Given the description of an element on the screen output the (x, y) to click on. 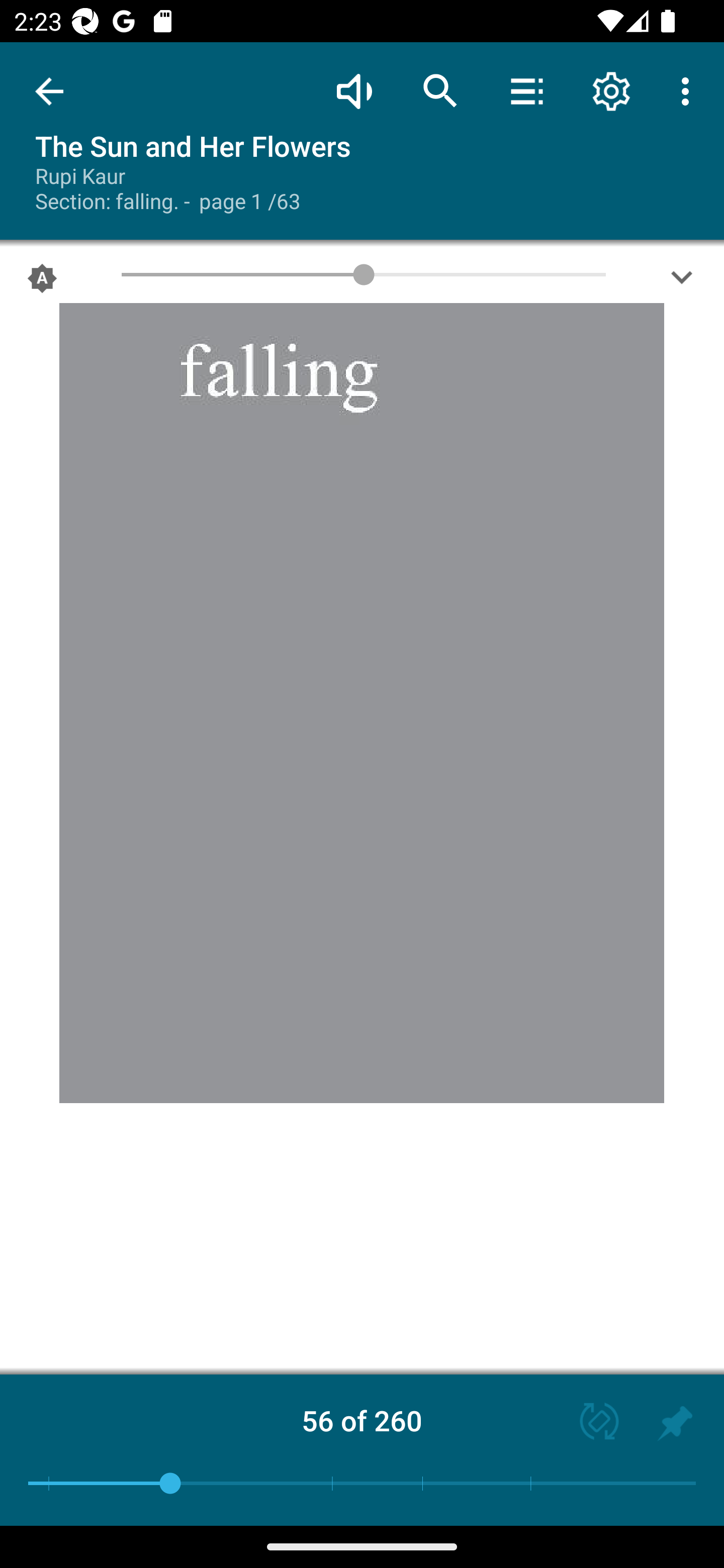
Exit reading (49, 91)
Read aloud (354, 90)
Text search (440, 90)
Contents / Bookmarks / Quotes (526, 90)
Reading settings (611, 90)
More options (688, 90)
Selected screen brightness (42, 281)
Screen brightness settings (681, 281)
56 of 260 (361, 1420)
Screen orientation (590, 1423)
Add to history (674, 1423)
